Given the description of an element on the screen output the (x, y) to click on. 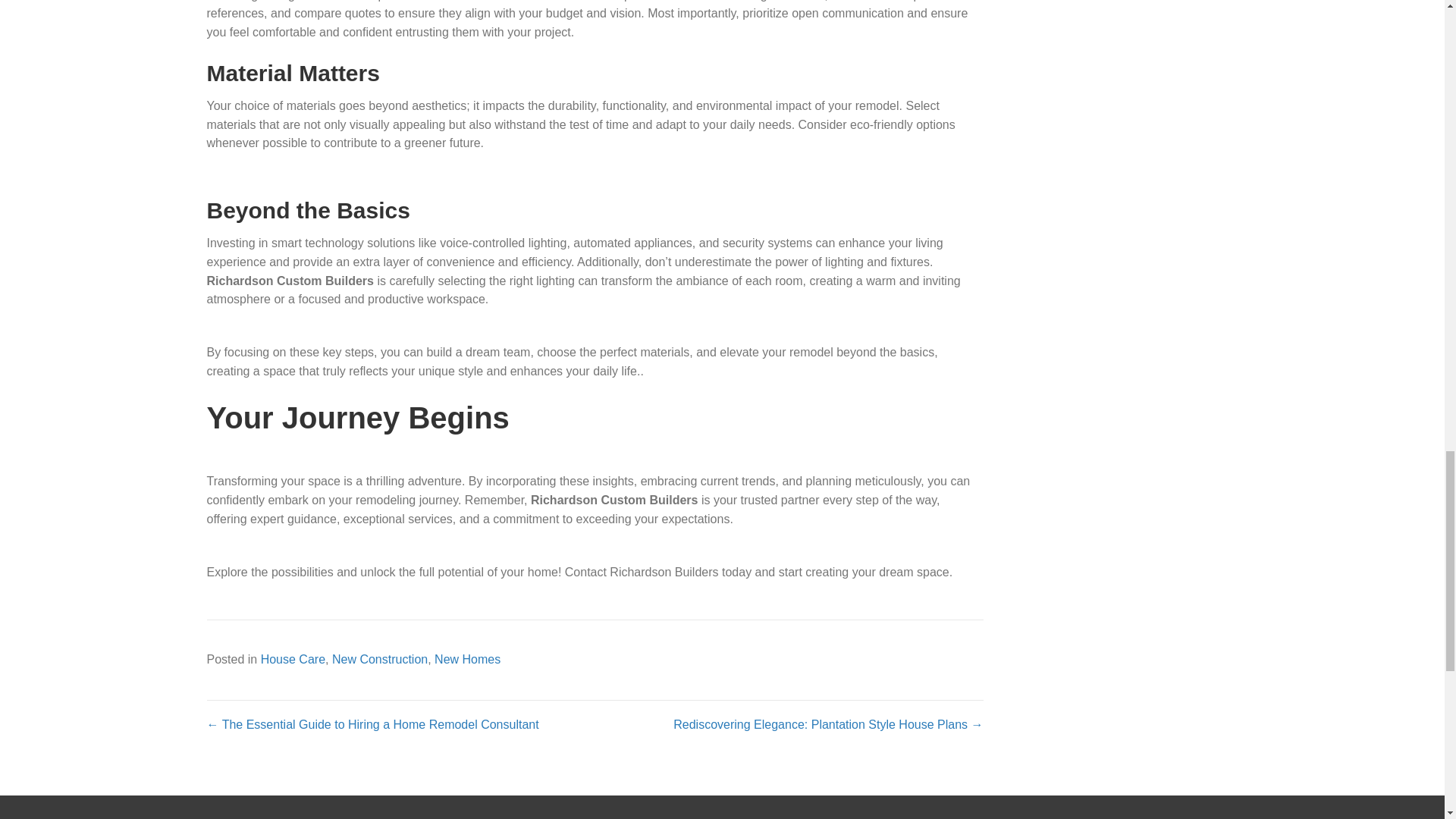
New Homes (466, 658)
New Construction (379, 658)
House Care (292, 658)
